Given the description of an element on the screen output the (x, y) to click on. 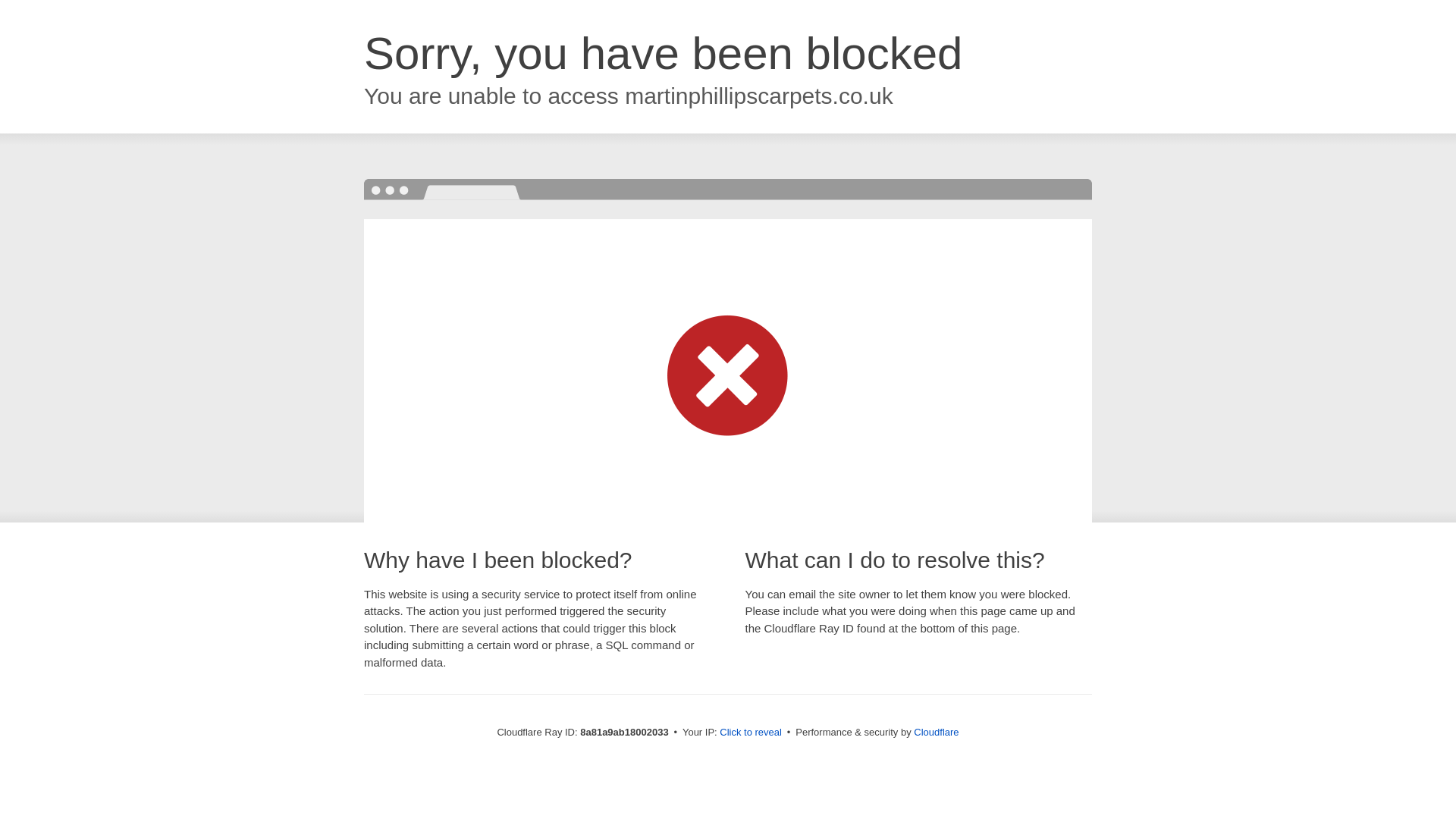
Cloudflare (936, 731)
Click to reveal (750, 732)
